Given the description of an element on the screen output the (x, y) to click on. 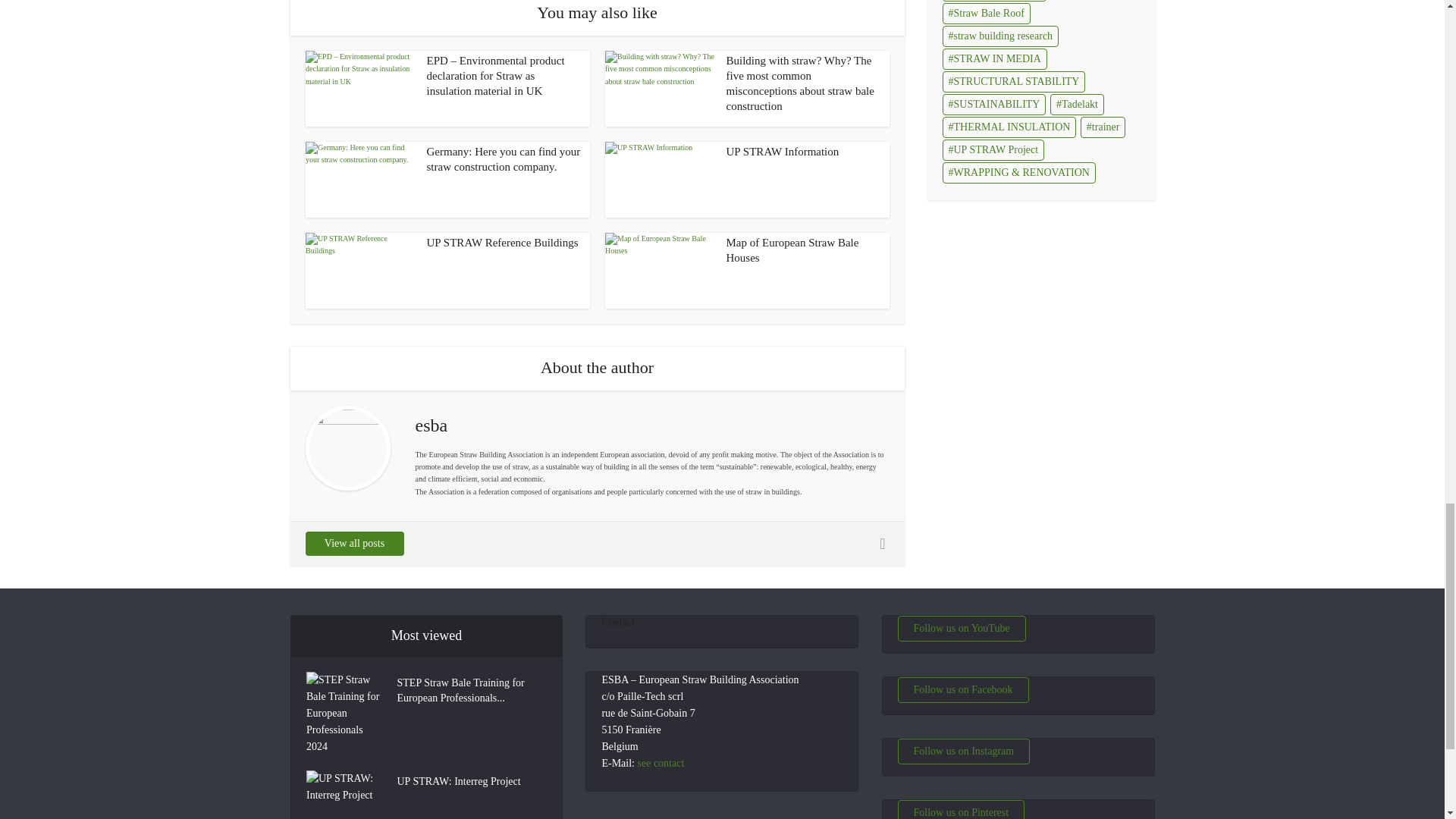
Germany: Here you can find your straw construction company. (359, 179)
Germany: Here you can find your straw construction company. (502, 158)
